Given the description of an element on the screen output the (x, y) to click on. 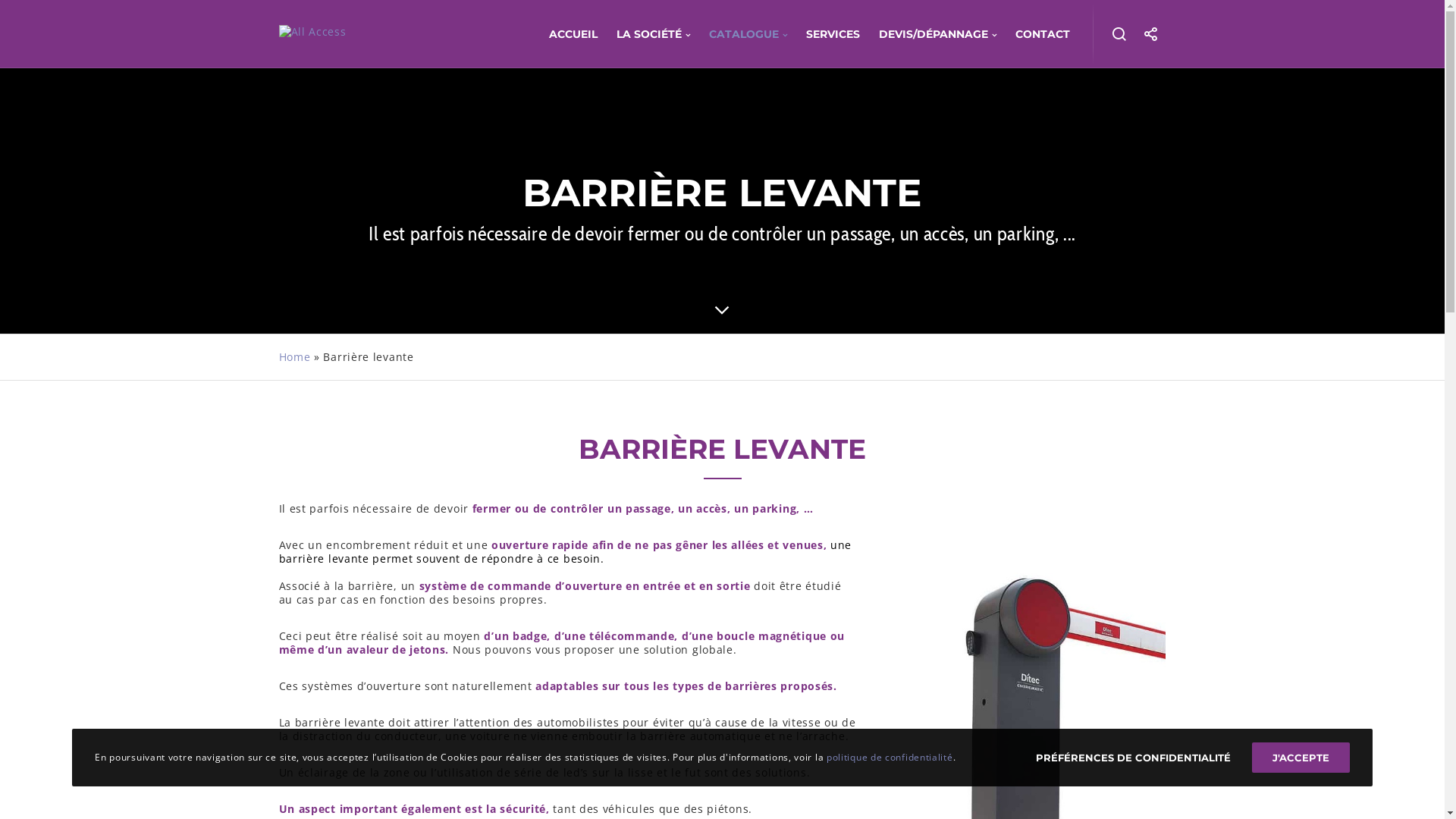
I-LOGICS Element type: text (920, 790)
SERVICES Element type: text (823, 34)
CATALOGUE Element type: text (738, 34)
CONTACT Element type: text (1033, 34)
J'ACCEPTE Element type: text (1300, 757)
Home Element type: text (294, 356)
ACCUEIL Element type: text (563, 34)
